Given the description of an element on the screen output the (x, y) to click on. 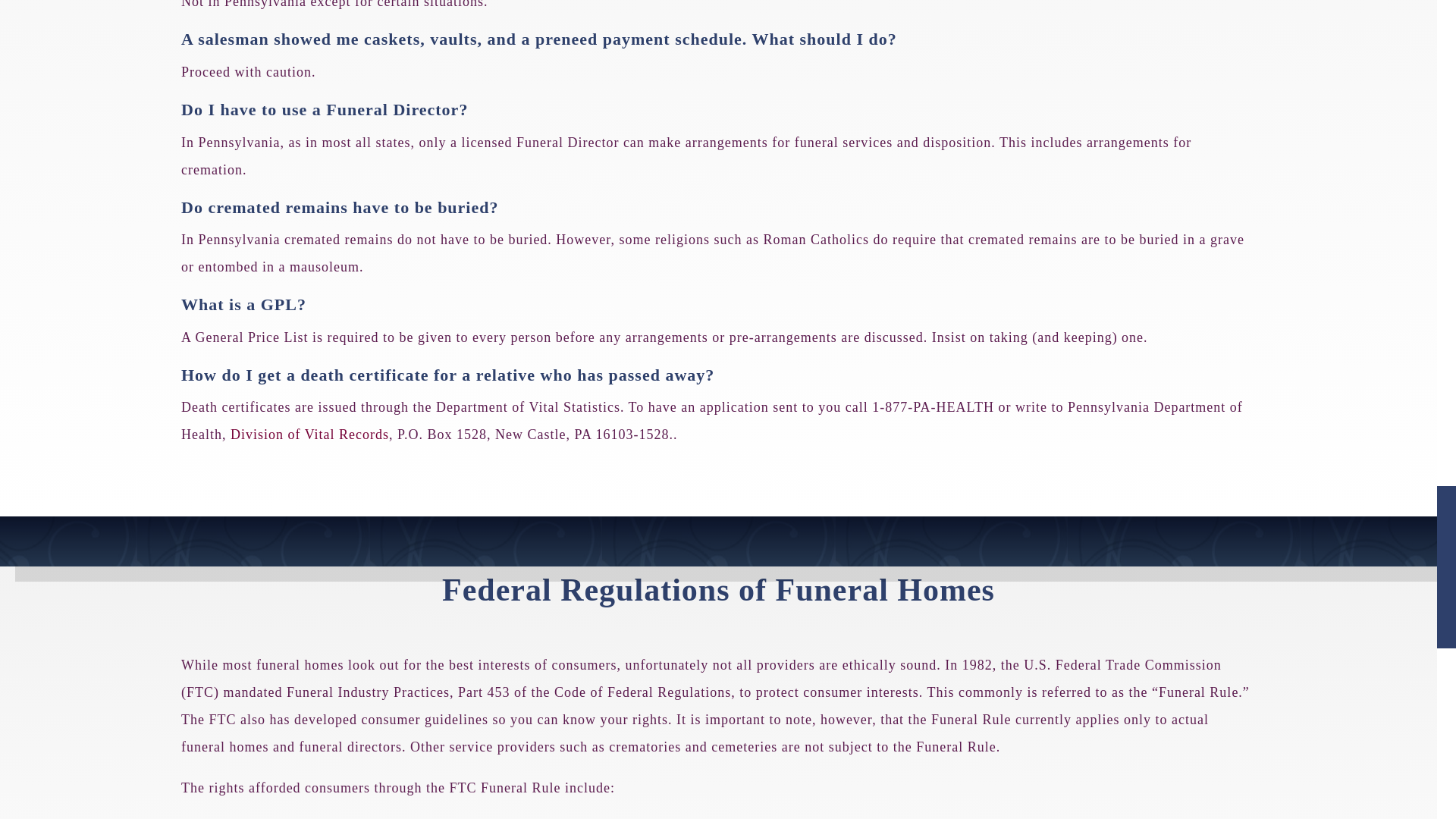
Division of Vital Records (309, 434)
